Given the description of an element on the screen output the (x, y) to click on. 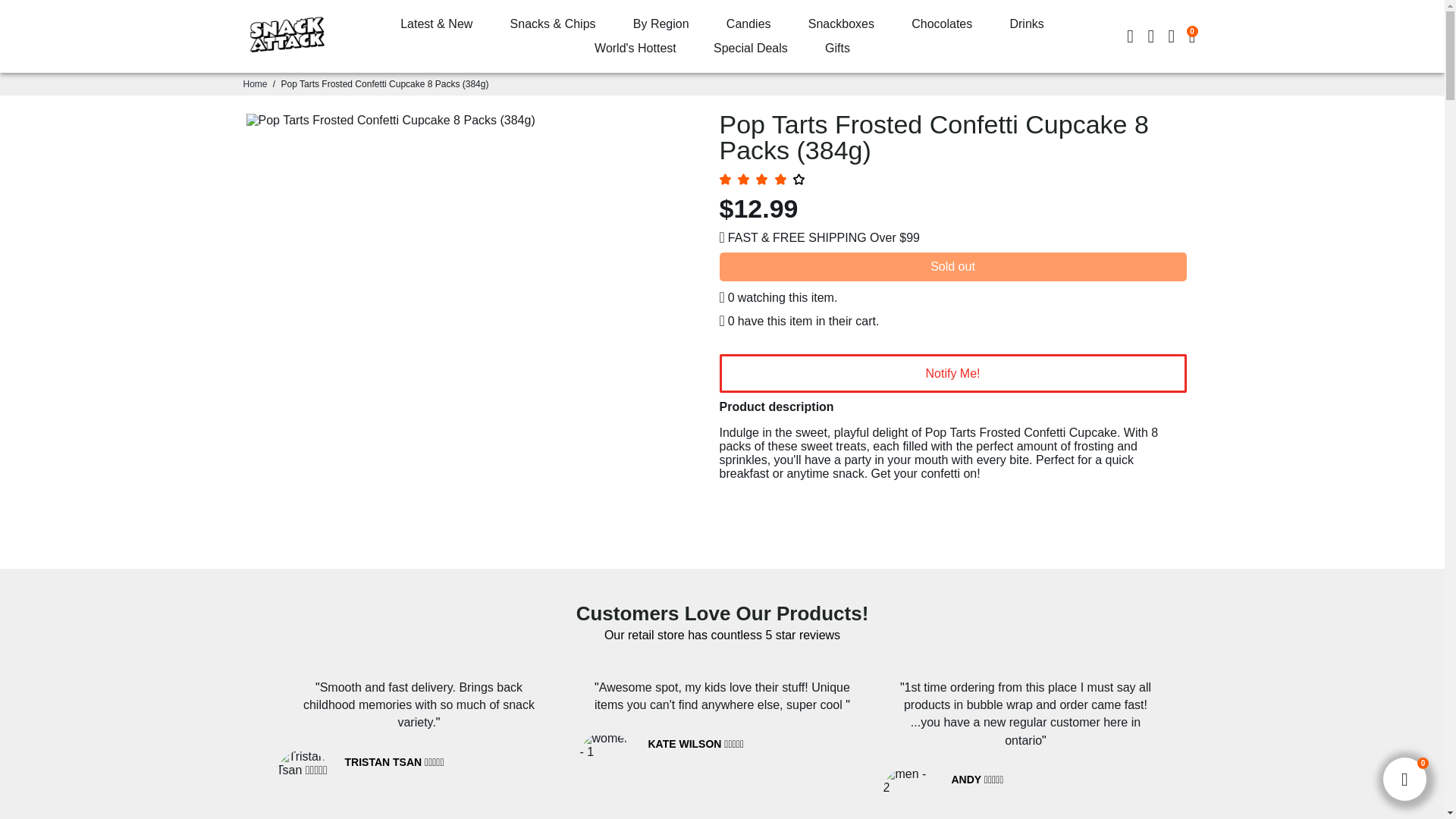
Candies (748, 24)
Home (254, 83)
By Region (660, 24)
Drinks (1026, 24)
Snackboxes (841, 24)
Chocolates (941, 24)
